Given the description of an element on the screen output the (x, y) to click on. 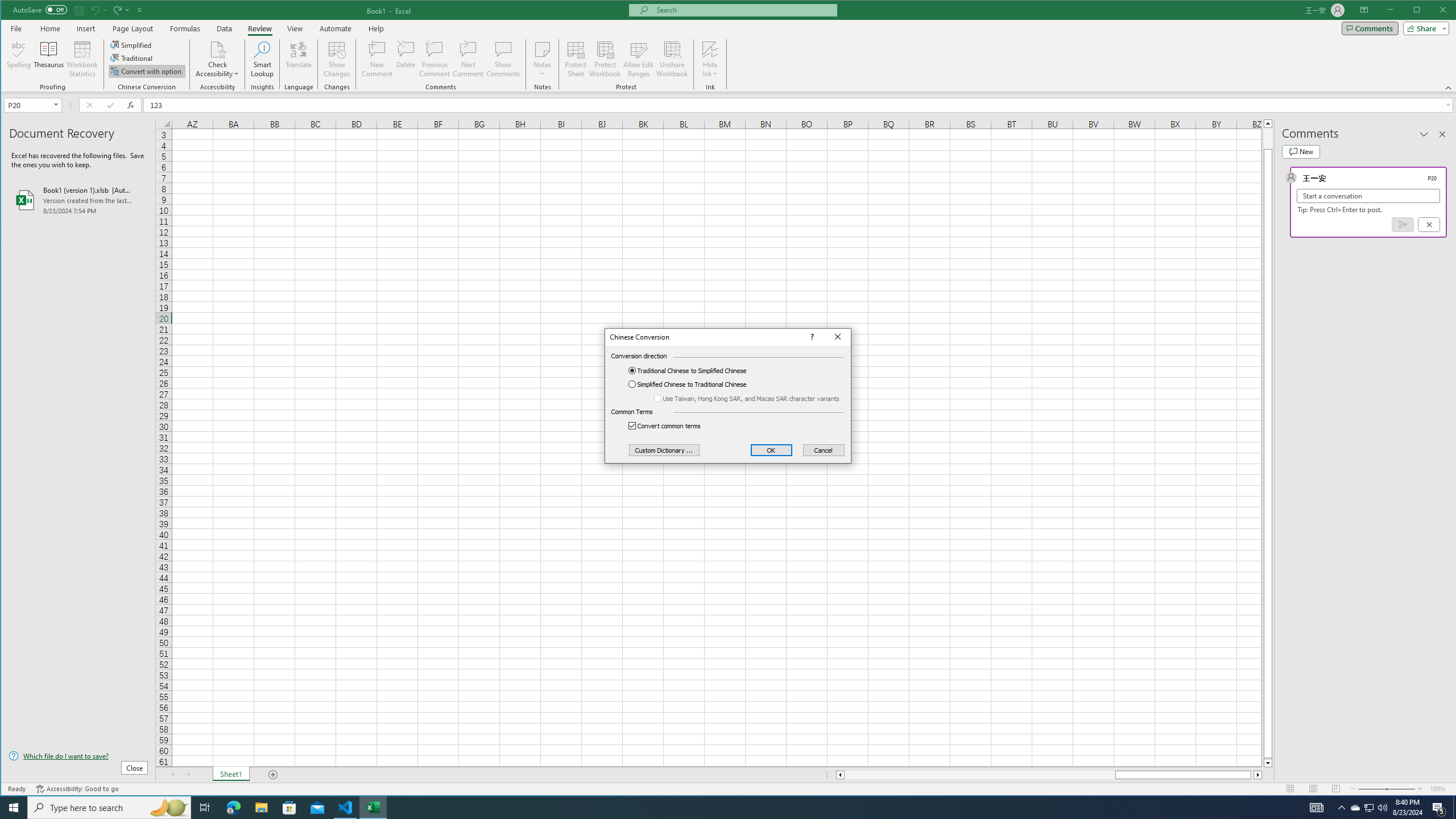
Traditional (132, 57)
Workbook Statistics (82, 59)
Show desktop (1454, 807)
Show Comments (502, 59)
